Given the description of an element on the screen output the (x, y) to click on. 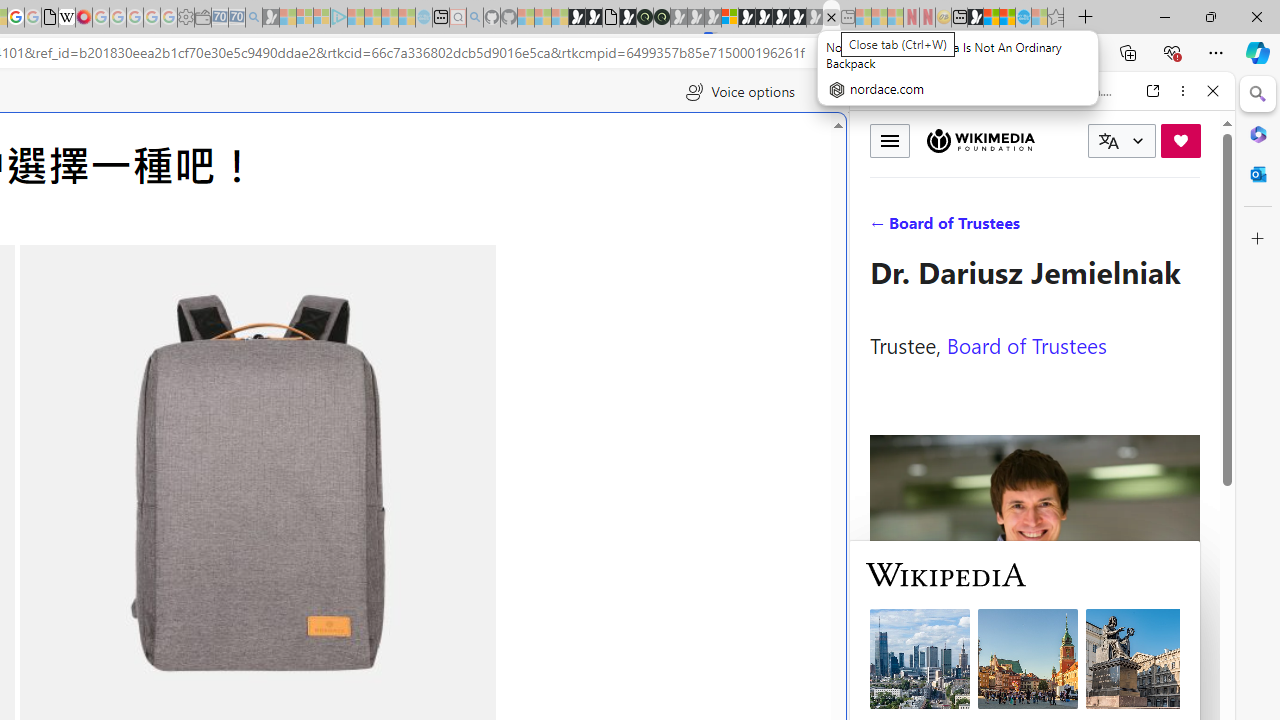
Tabs you've opened (276, 265)
Next (443, 501)
Favorites - Sleeping (1055, 17)
